Given the description of an element on the screen output the (x, y) to click on. 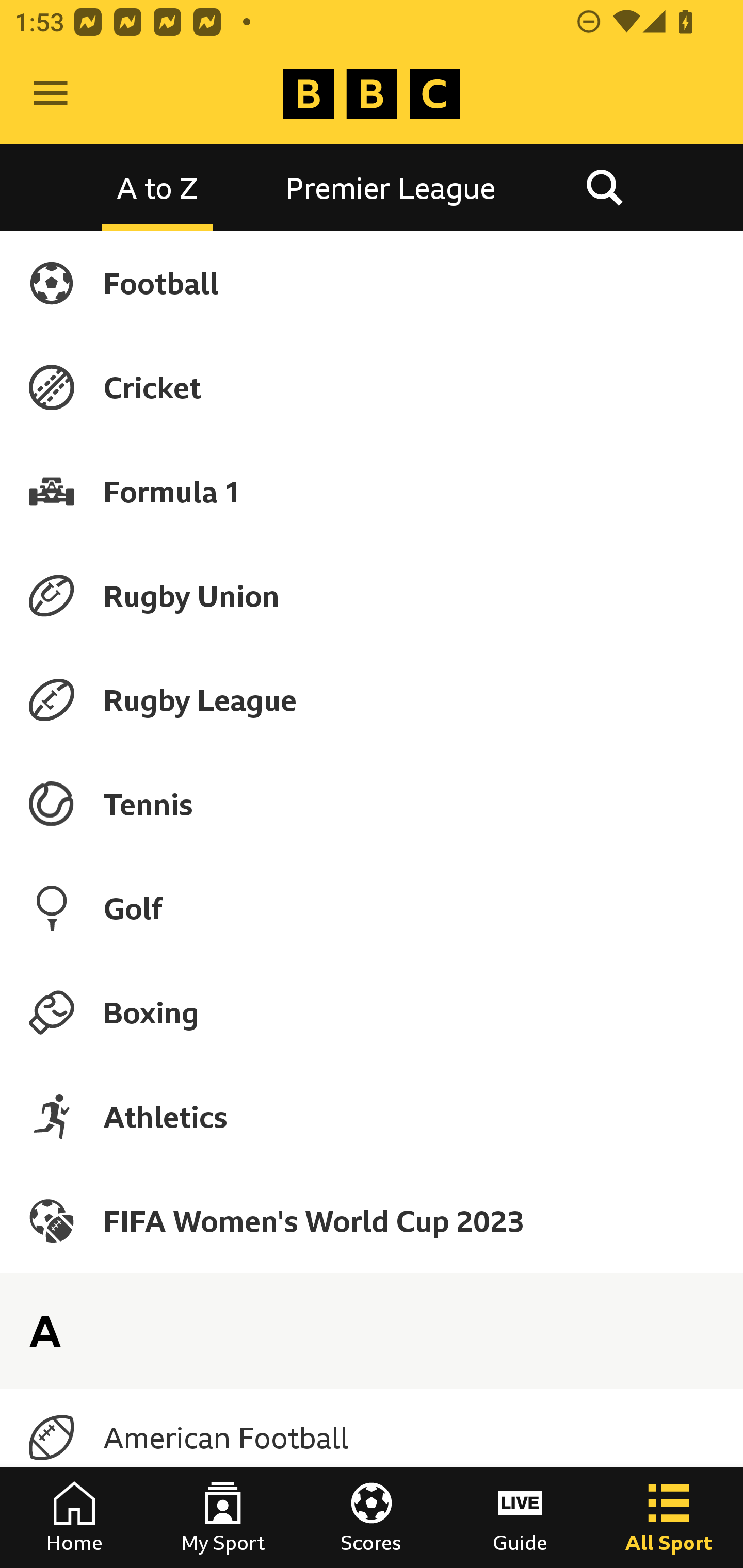
Open Menu (50, 93)
Premier League (390, 187)
Search (604, 187)
Football (371, 282)
Cricket (371, 387)
Formula 1 (371, 491)
Rugby Union (371, 595)
Rugby League (371, 699)
Tennis (371, 804)
Golf (371, 907)
Boxing (371, 1011)
Athletics (371, 1116)
FIFA Women's World Cup 2023 (371, 1220)
American Football (371, 1437)
Home (74, 1517)
My Sport (222, 1517)
Scores (371, 1517)
Guide (519, 1517)
